Given the description of an element on the screen output the (x, y) to click on. 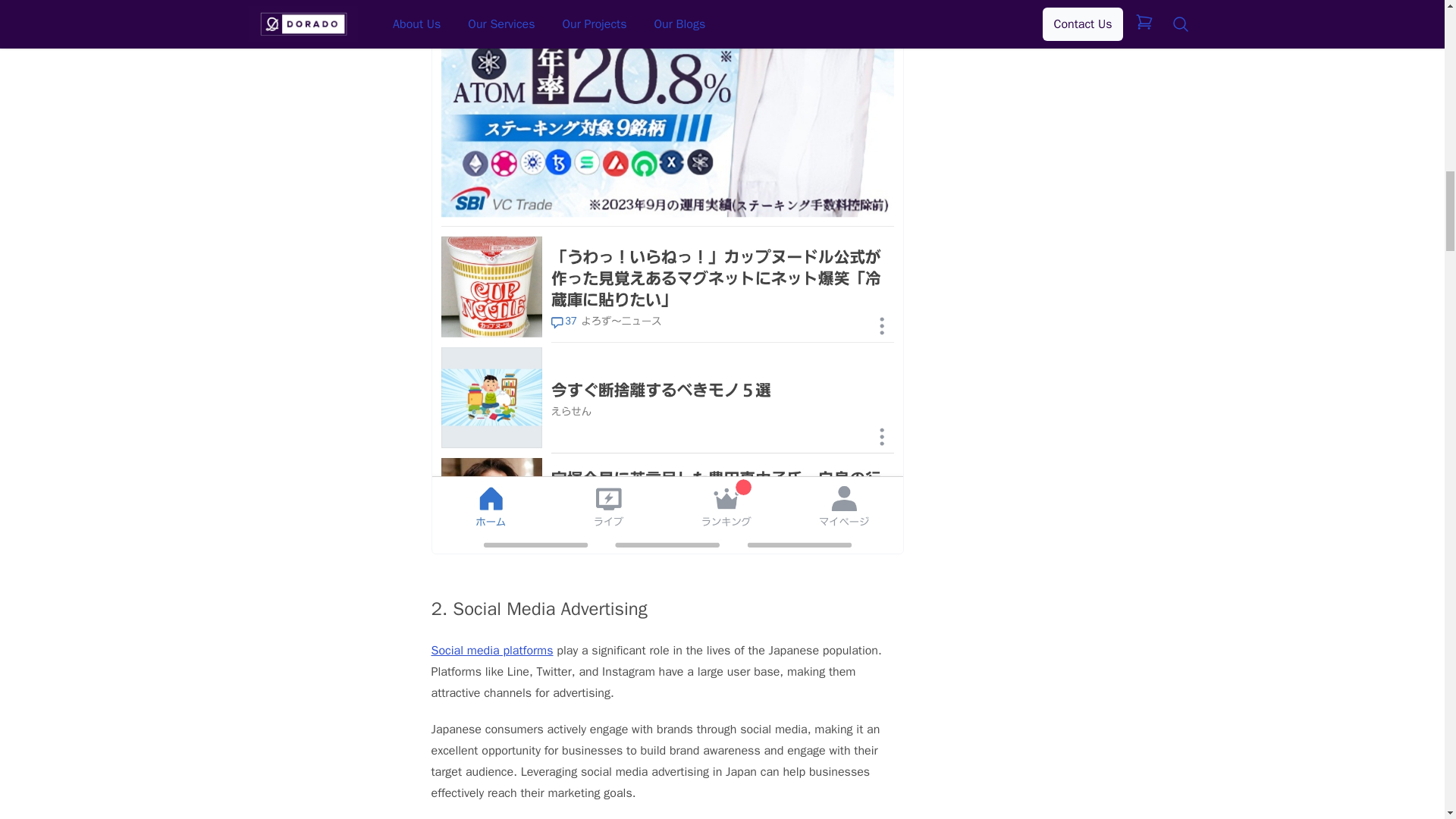
Social media platforms (491, 650)
